Given the description of an element on the screen output the (x, y) to click on. 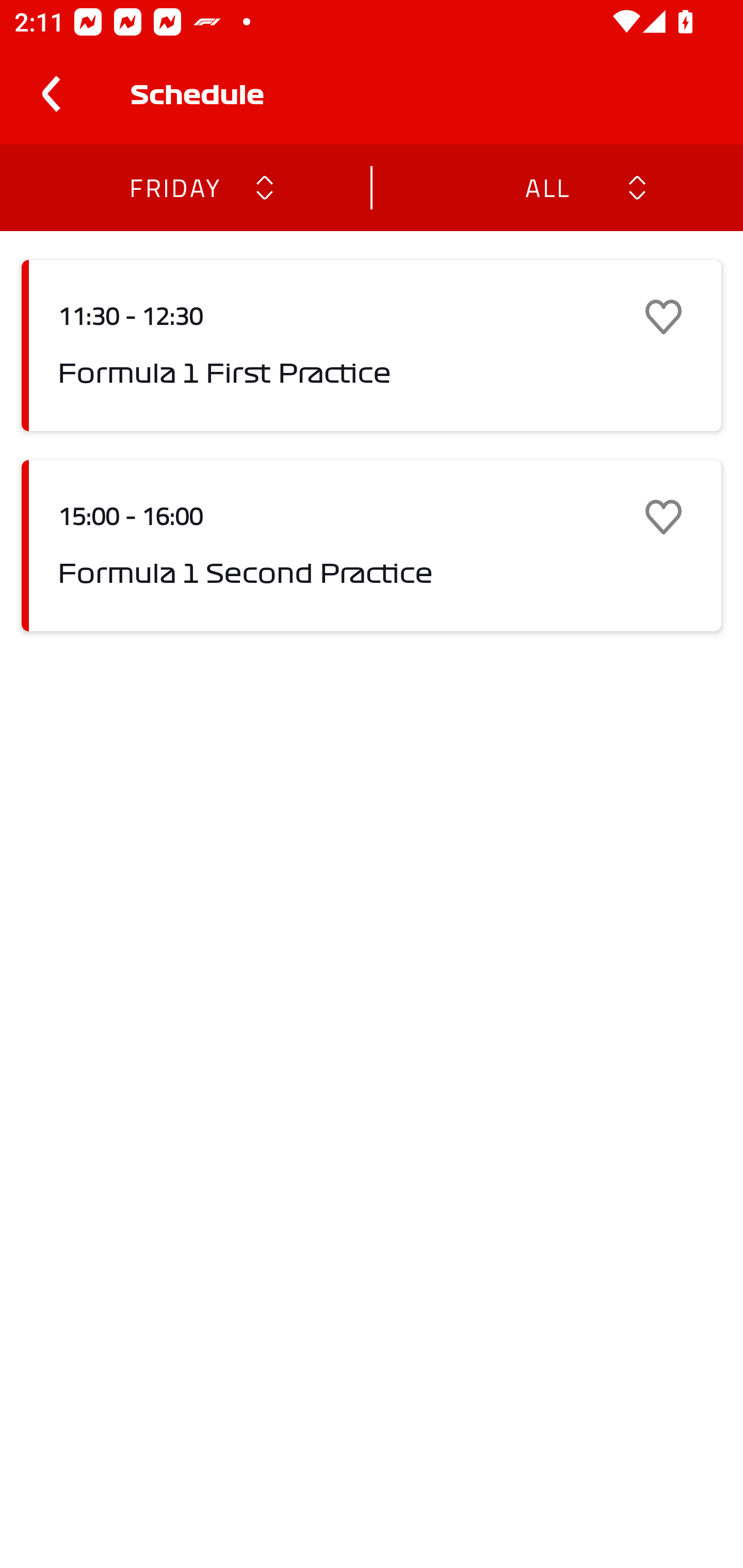
Navigate up (50, 93)
FRIDAY (174, 187)
ALL (546, 187)
11:30 - 12:30 Formula 1 First Practice (371, 345)
15:00 - 16:00 Formula 1 Second Practice (371, 545)
